Given the description of an element on the screen output the (x, y) to click on. 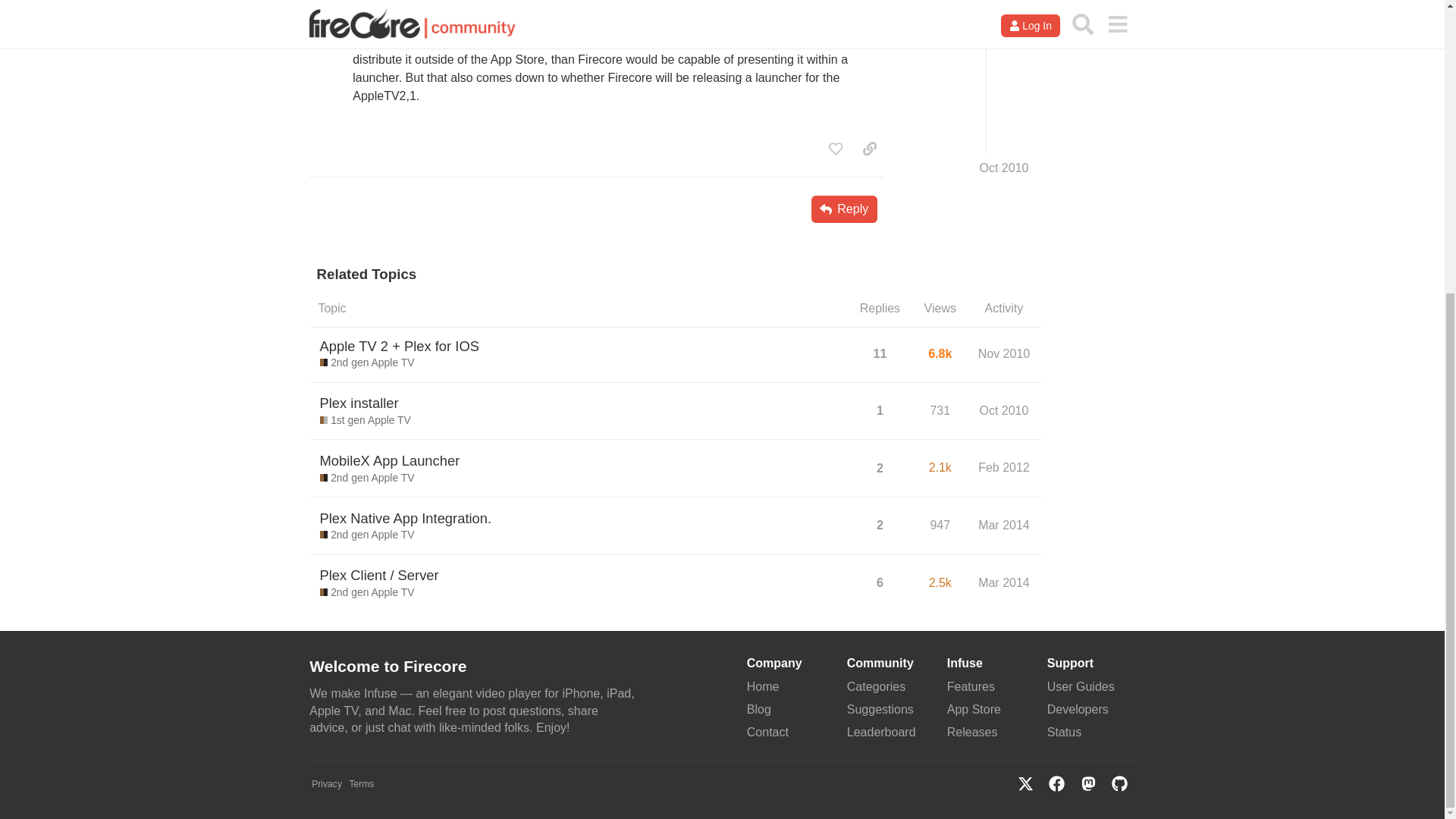
Nov 2010 (1003, 353)
1st gen Apple TV (365, 420)
2nd gen Apple TV (367, 363)
Plex installer (359, 403)
Oct 2010 (1003, 410)
MobileX App Launcher (390, 460)
Reply (843, 208)
2nd gen Apple TV (367, 478)
